Given the description of an element on the screen output the (x, y) to click on. 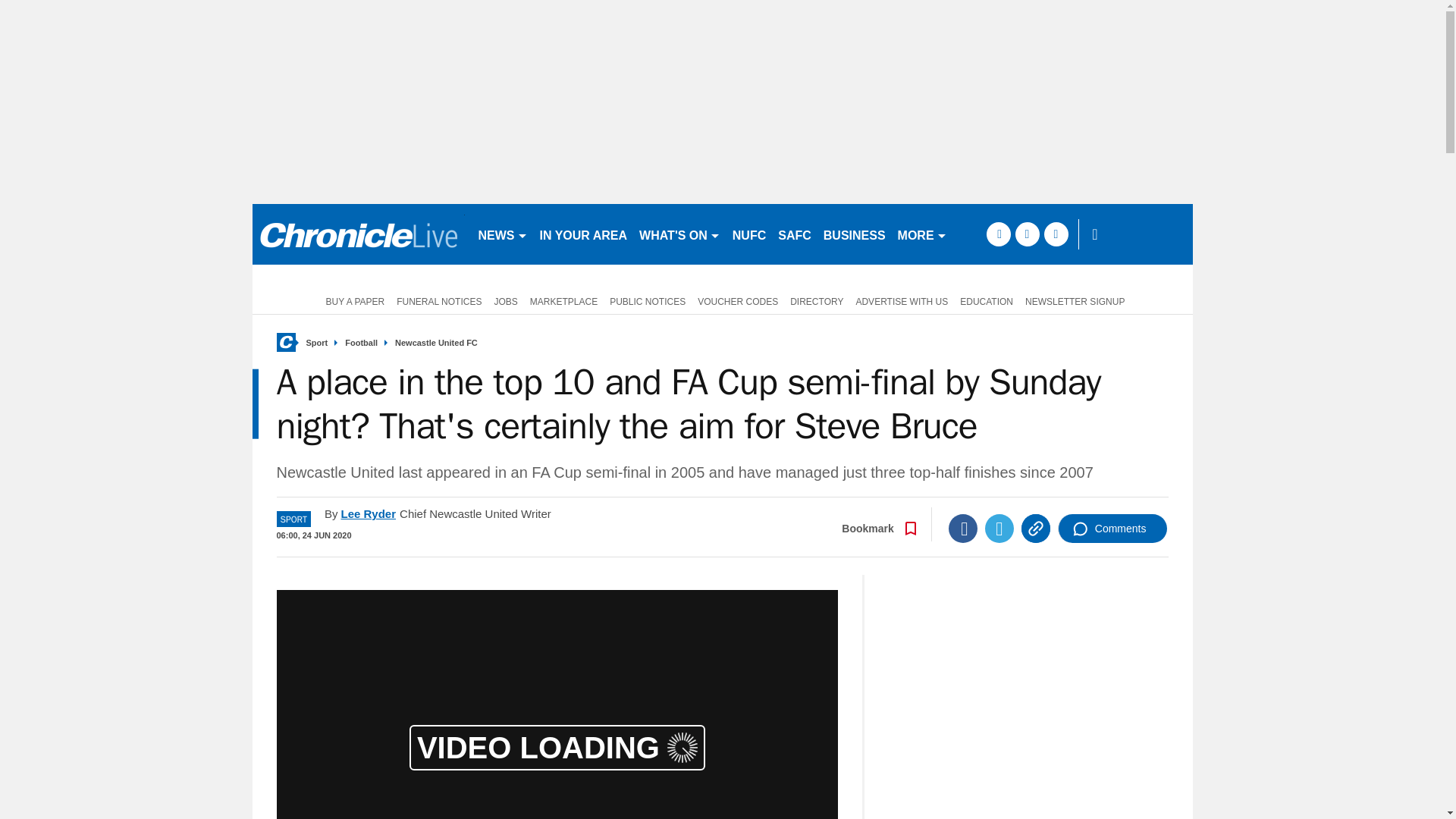
WHAT'S ON (679, 233)
MORE (922, 233)
BUSINESS (853, 233)
Twitter (999, 528)
Comments (1112, 528)
Facebook (962, 528)
instagram (1055, 233)
IN YOUR AREA (583, 233)
facebook (997, 233)
nechronicle (357, 233)
twitter (1026, 233)
NEWS (501, 233)
